Given the description of an element on the screen output the (x, y) to click on. 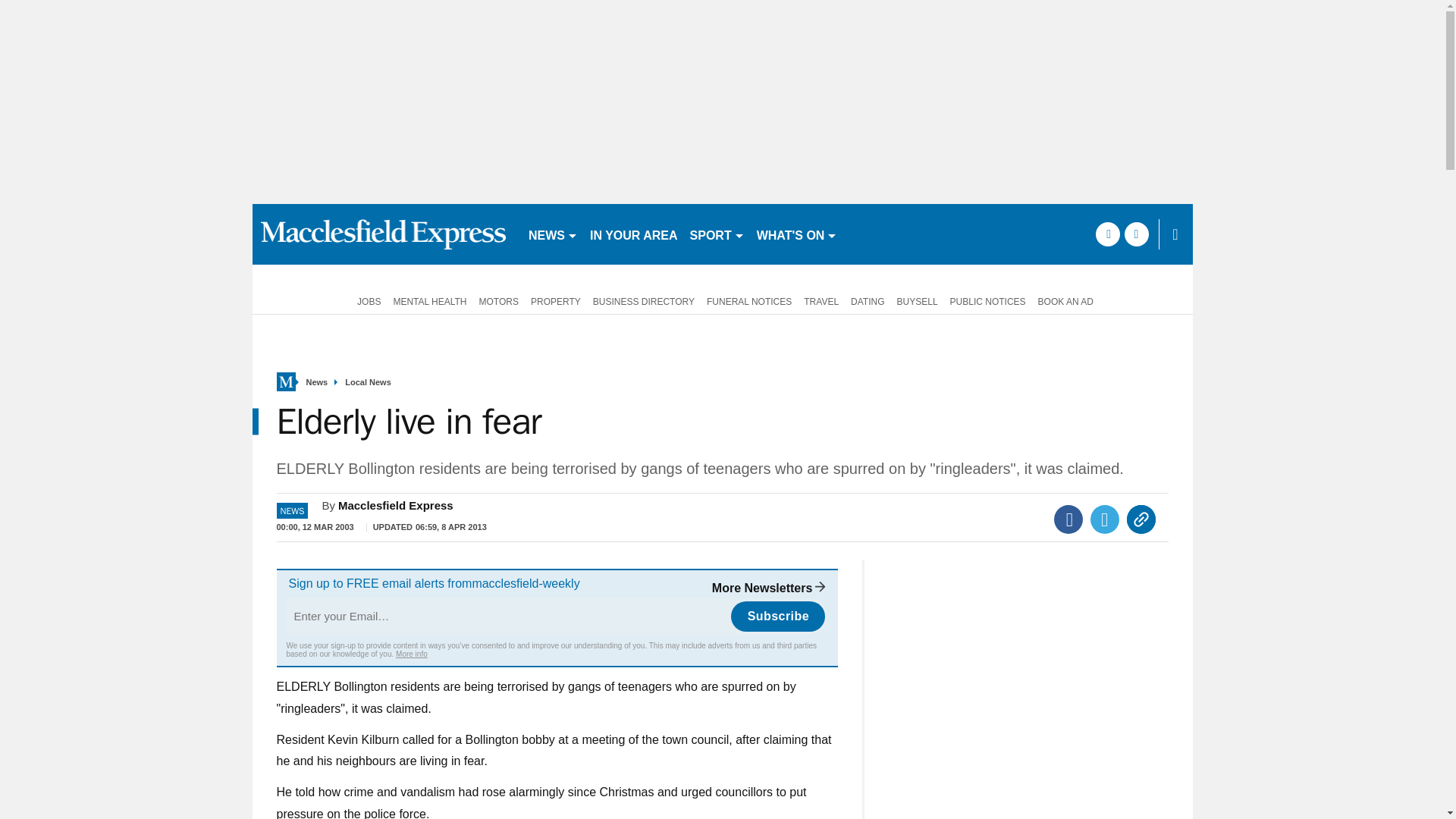
DATING (866, 300)
BUYSELL (917, 300)
macclesfield (383, 233)
MOTORS (498, 300)
facebook (1106, 233)
JOBS (366, 300)
twitter (1136, 233)
PROPERTY (555, 300)
BUSINESS DIRECTORY (643, 300)
Facebook (1068, 519)
NEWS (552, 233)
FUNERAL NOTICES (748, 300)
PUBLIC NOTICES (987, 300)
MENTAL HEALTH (429, 300)
IN YOUR AREA (633, 233)
